Given the description of an element on the screen output the (x, y) to click on. 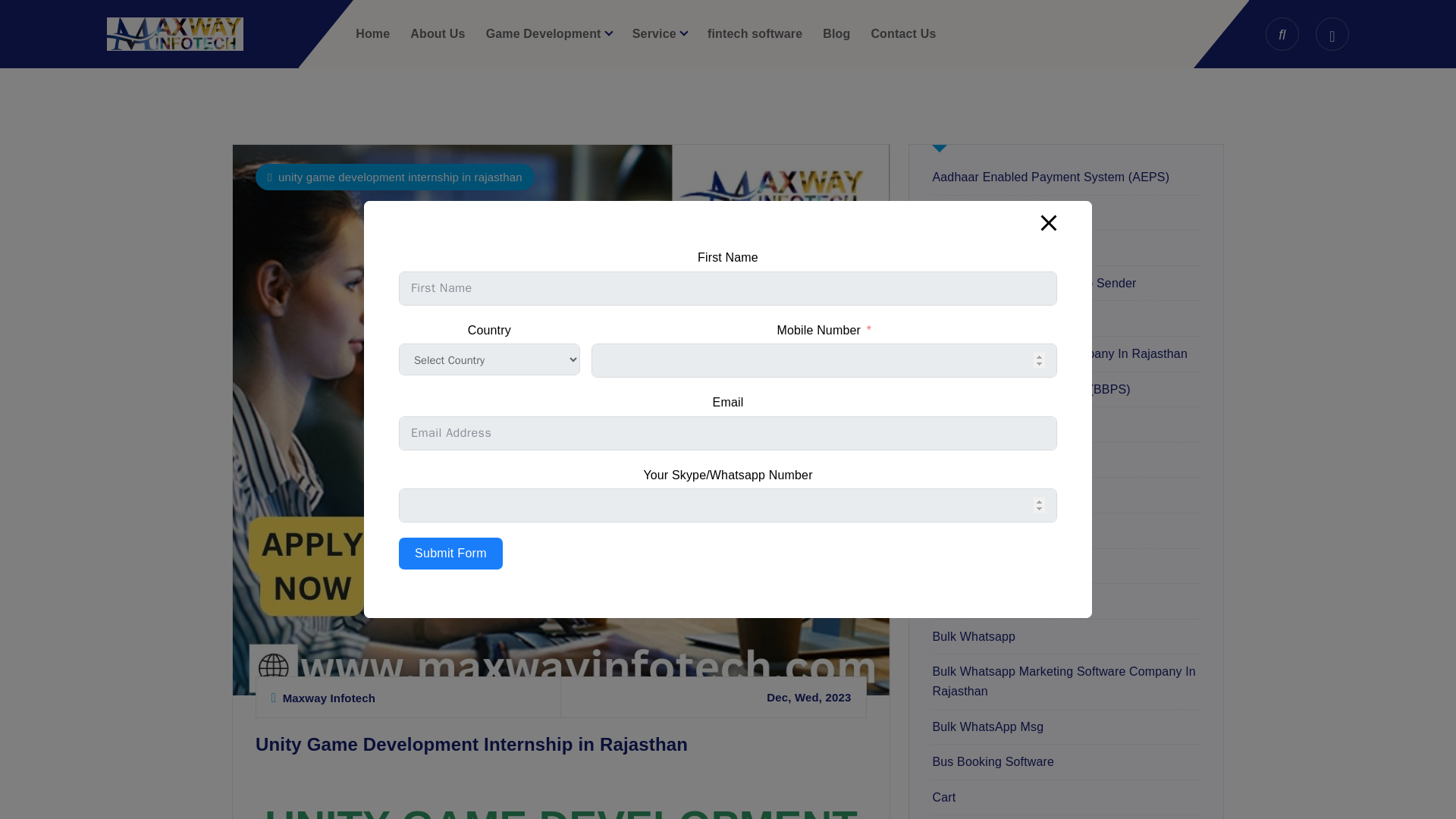
Service (659, 33)
Blog (836, 33)
Game Development (548, 33)
Home (372, 33)
Service (659, 33)
fintech software (754, 33)
About Us (437, 33)
Home (372, 33)
About Us (437, 33)
Game Development (548, 33)
